Given the description of an element on the screen output the (x, y) to click on. 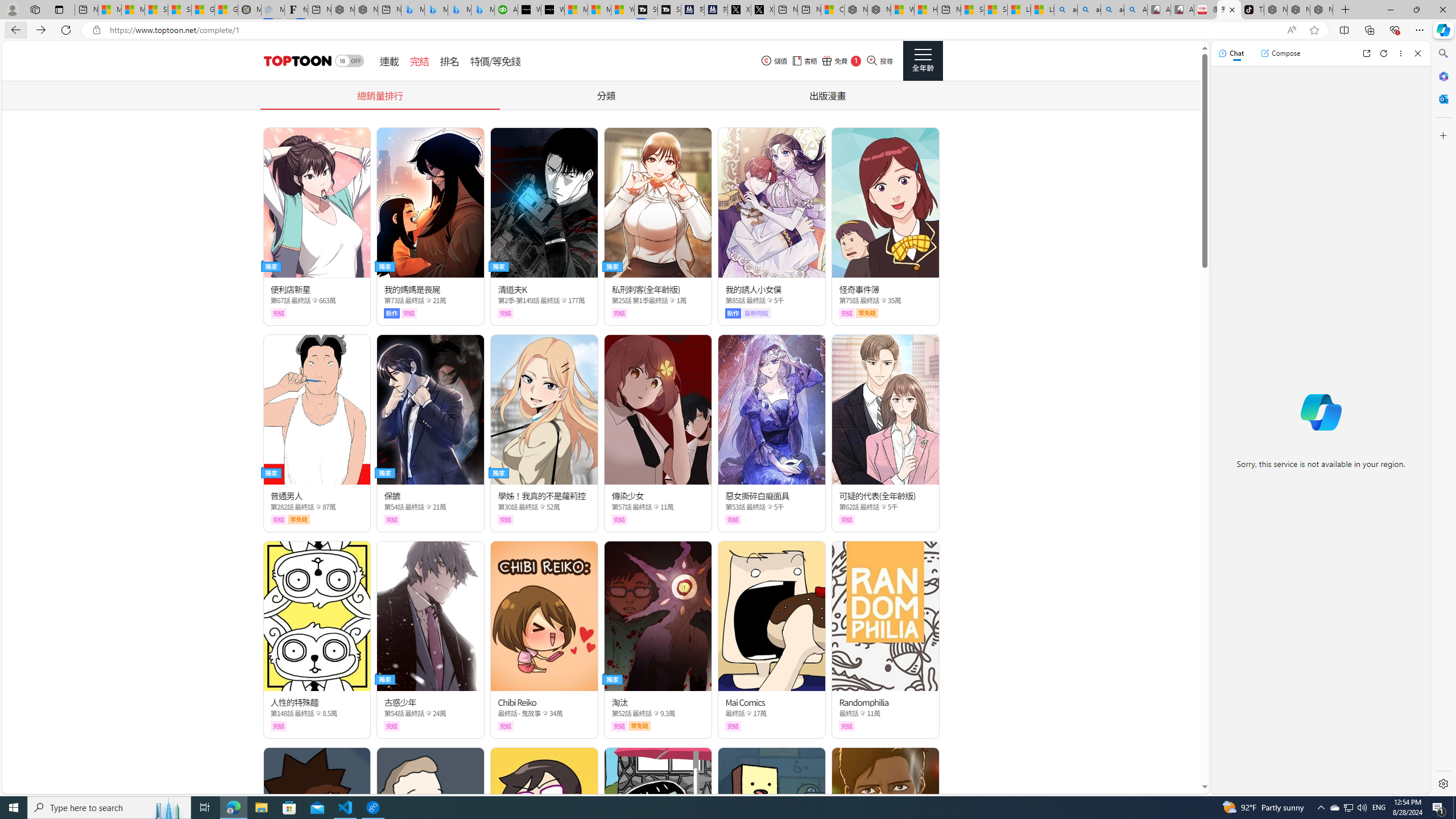
What's the best AI voice generator? - voice.ai (552, 9)
All Cubot phones (1182, 9)
Gilma and Hector both pose tropical trouble for Hawaii (226, 9)
Wildlife - MSN (902, 9)
Class:  switch_18mode actionAdultBtn (349, 60)
Class: side_menu_btn actionRightMenuBtn (922, 60)
